Given the description of an element on the screen output the (x, y) to click on. 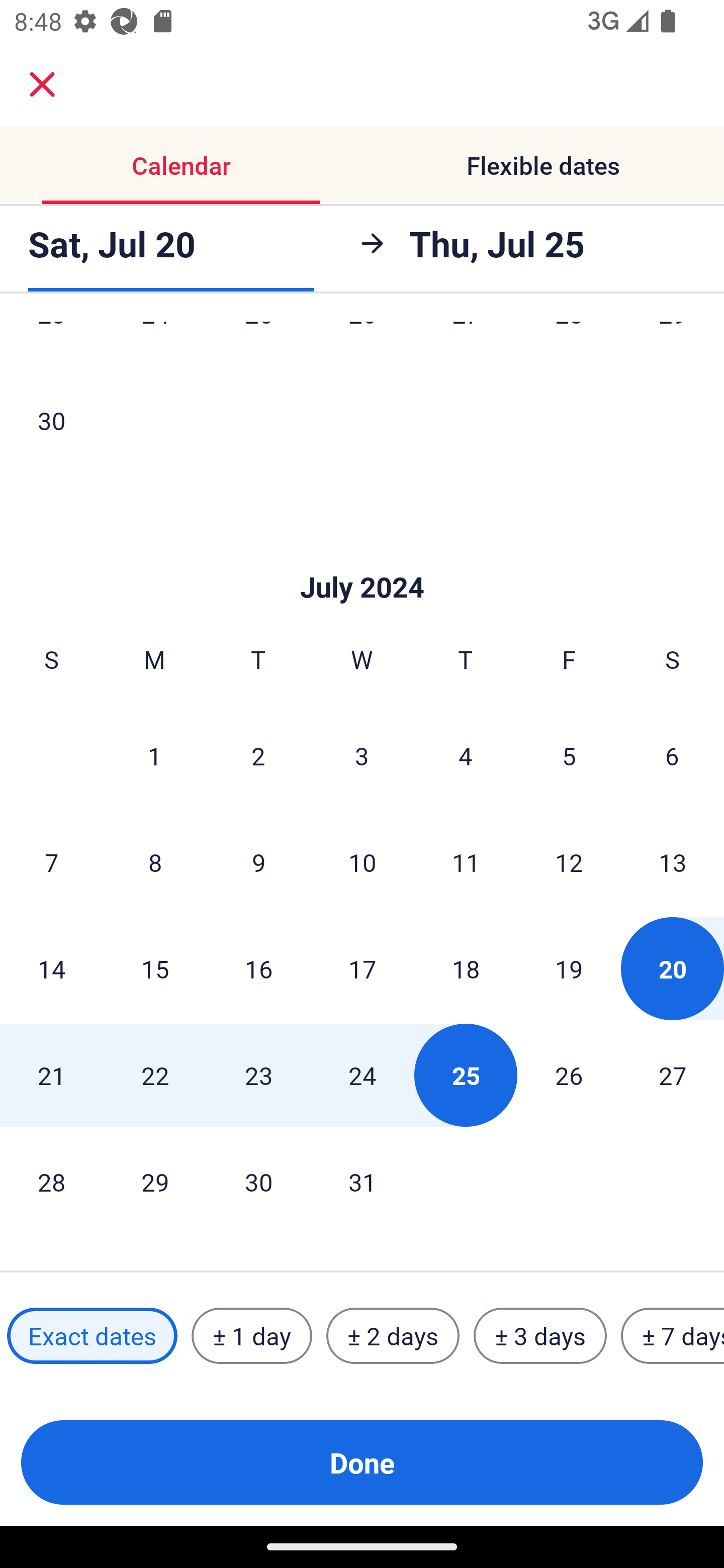
close. (42, 84)
Flexible dates (542, 164)
30 Sunday, June 30, 2024 (51, 419)
Skip to Done (362, 556)
1 Monday, July 1, 2024 (154, 755)
2 Tuesday, July 2, 2024 (257, 755)
3 Wednesday, July 3, 2024 (361, 755)
4 Thursday, July 4, 2024 (465, 755)
5 Friday, July 5, 2024 (568, 755)
6 Saturday, July 6, 2024 (672, 755)
7 Sunday, July 7, 2024 (51, 862)
8 Monday, July 8, 2024 (155, 862)
9 Tuesday, July 9, 2024 (258, 862)
10 Wednesday, July 10, 2024 (362, 862)
11 Thursday, July 11, 2024 (465, 862)
12 Friday, July 12, 2024 (569, 862)
13 Saturday, July 13, 2024 (672, 862)
14 Sunday, July 14, 2024 (51, 968)
15 Monday, July 15, 2024 (155, 968)
16 Tuesday, July 16, 2024 (258, 968)
17 Wednesday, July 17, 2024 (362, 968)
18 Thursday, July 18, 2024 (465, 968)
19 Friday, July 19, 2024 (569, 968)
26 Friday, July 26, 2024 (569, 1075)
27 Saturday, July 27, 2024 (672, 1075)
28 Sunday, July 28, 2024 (51, 1182)
29 Monday, July 29, 2024 (155, 1182)
30 Tuesday, July 30, 2024 (258, 1182)
31 Wednesday, July 31, 2024 (362, 1182)
Exact dates (92, 1335)
± 1 day (251, 1335)
± 2 days (392, 1335)
± 3 days (539, 1335)
± 7 days (672, 1335)
Done (361, 1462)
